Given the description of an element on the screen output the (x, y) to click on. 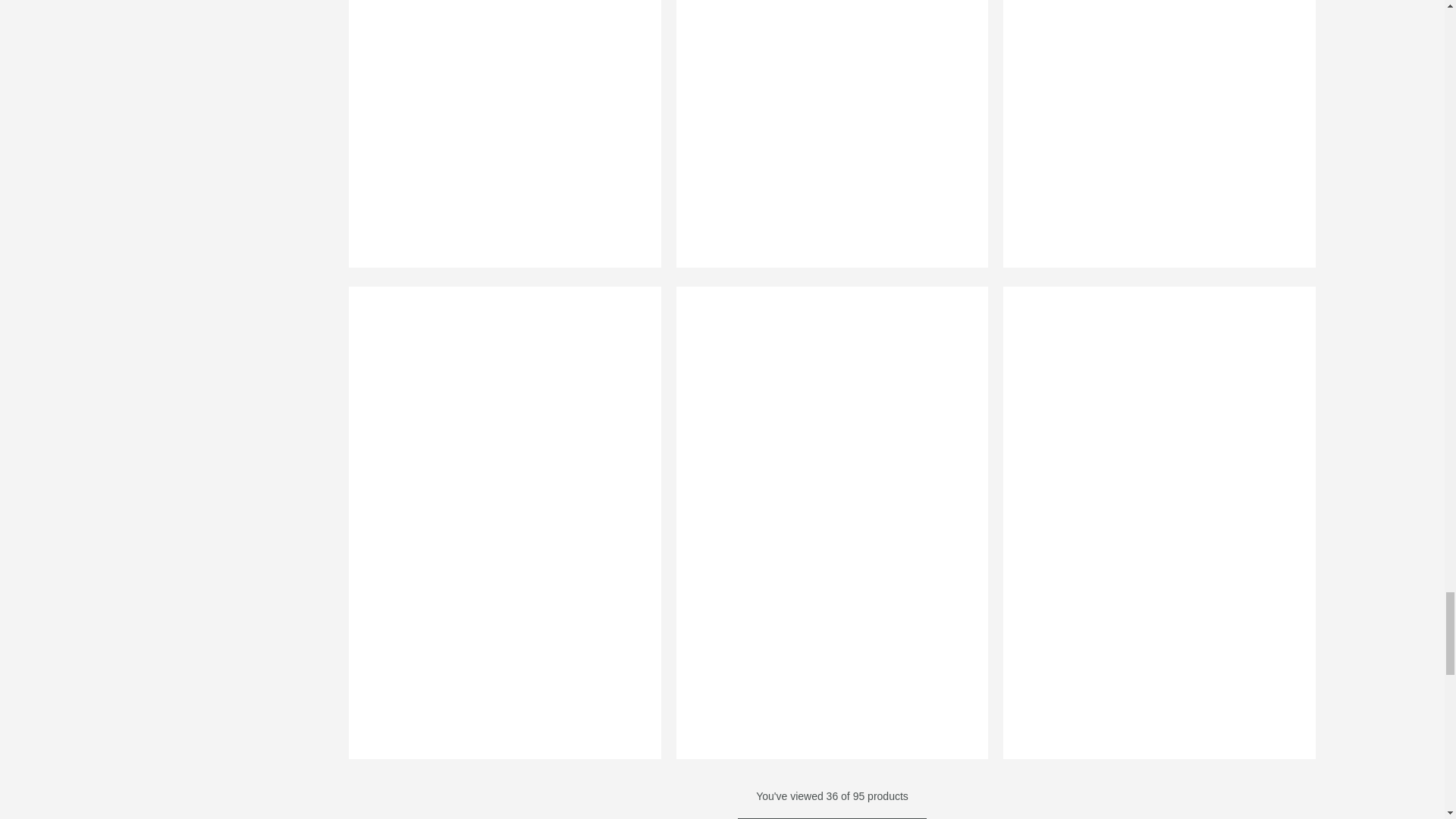
0 (497, 143)
0 (1152, 143)
0 (824, 143)
